Given the description of an element on the screen output the (x, y) to click on. 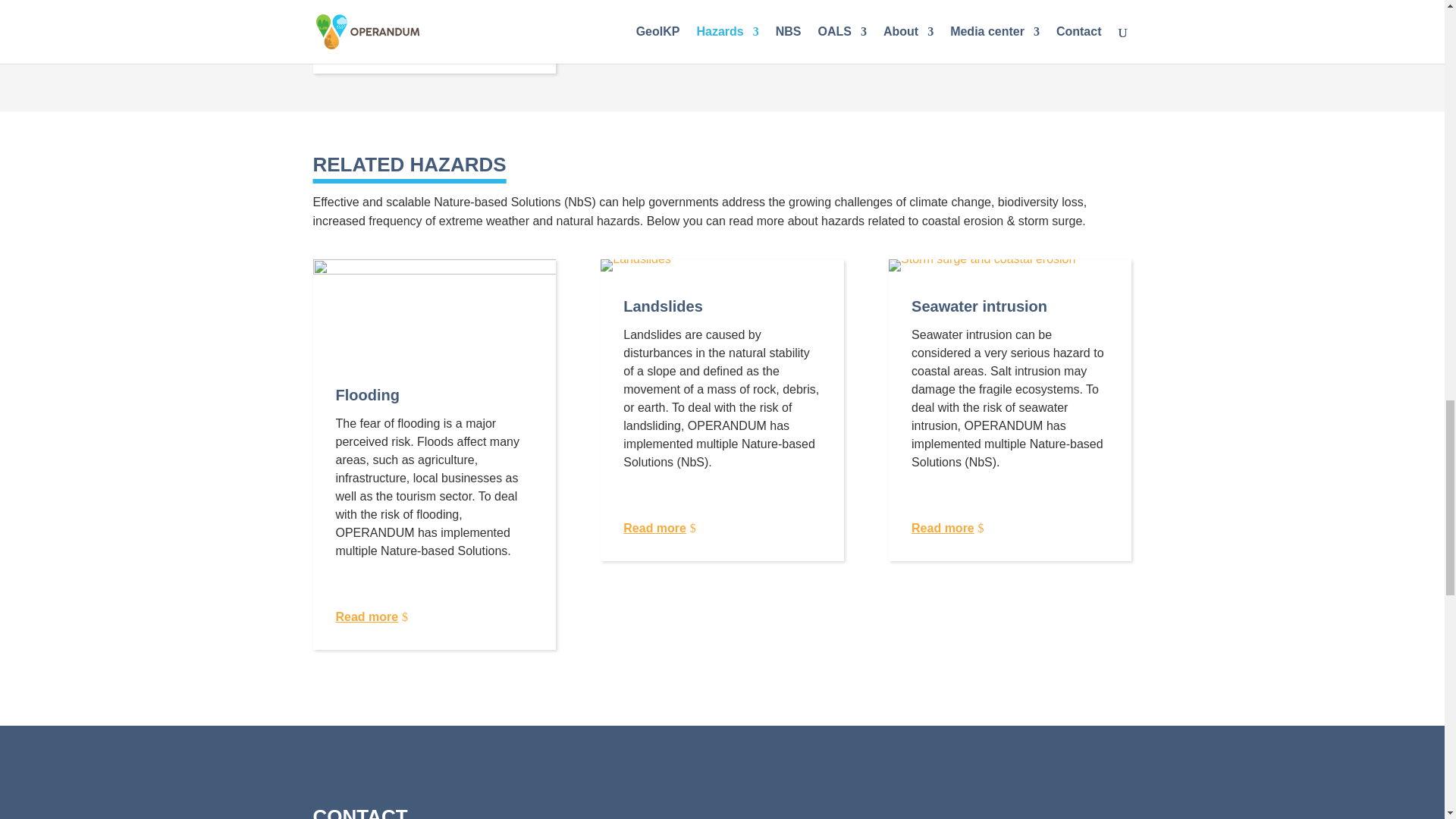
Landslides (635, 265)
Seawater intrusion (981, 265)
Flooding (433, 309)
Read more (366, 49)
